Given the description of an element on the screen output the (x, y) to click on. 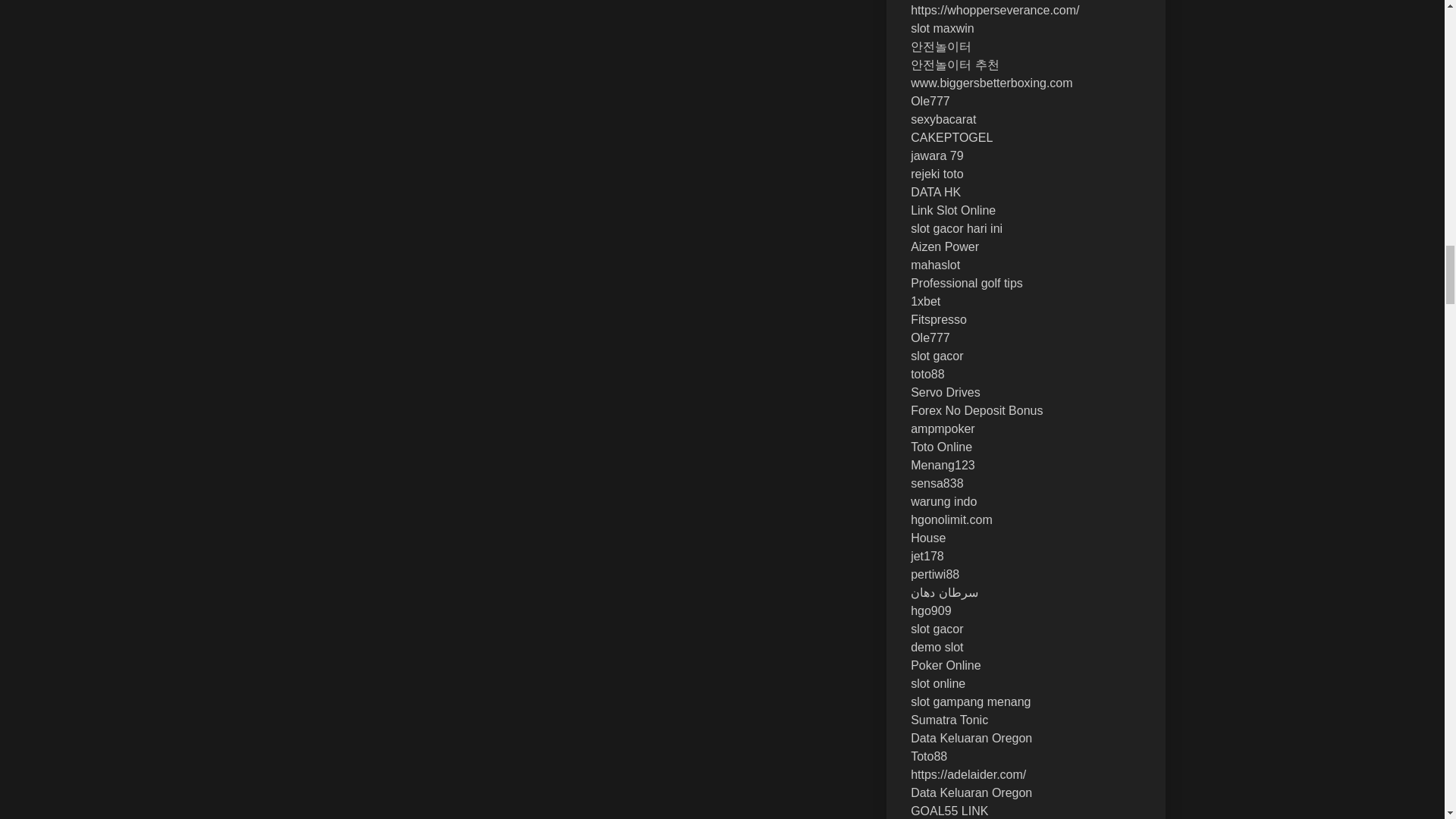
1xbet (925, 300)
